Given the description of an element on the screen output the (x, y) to click on. 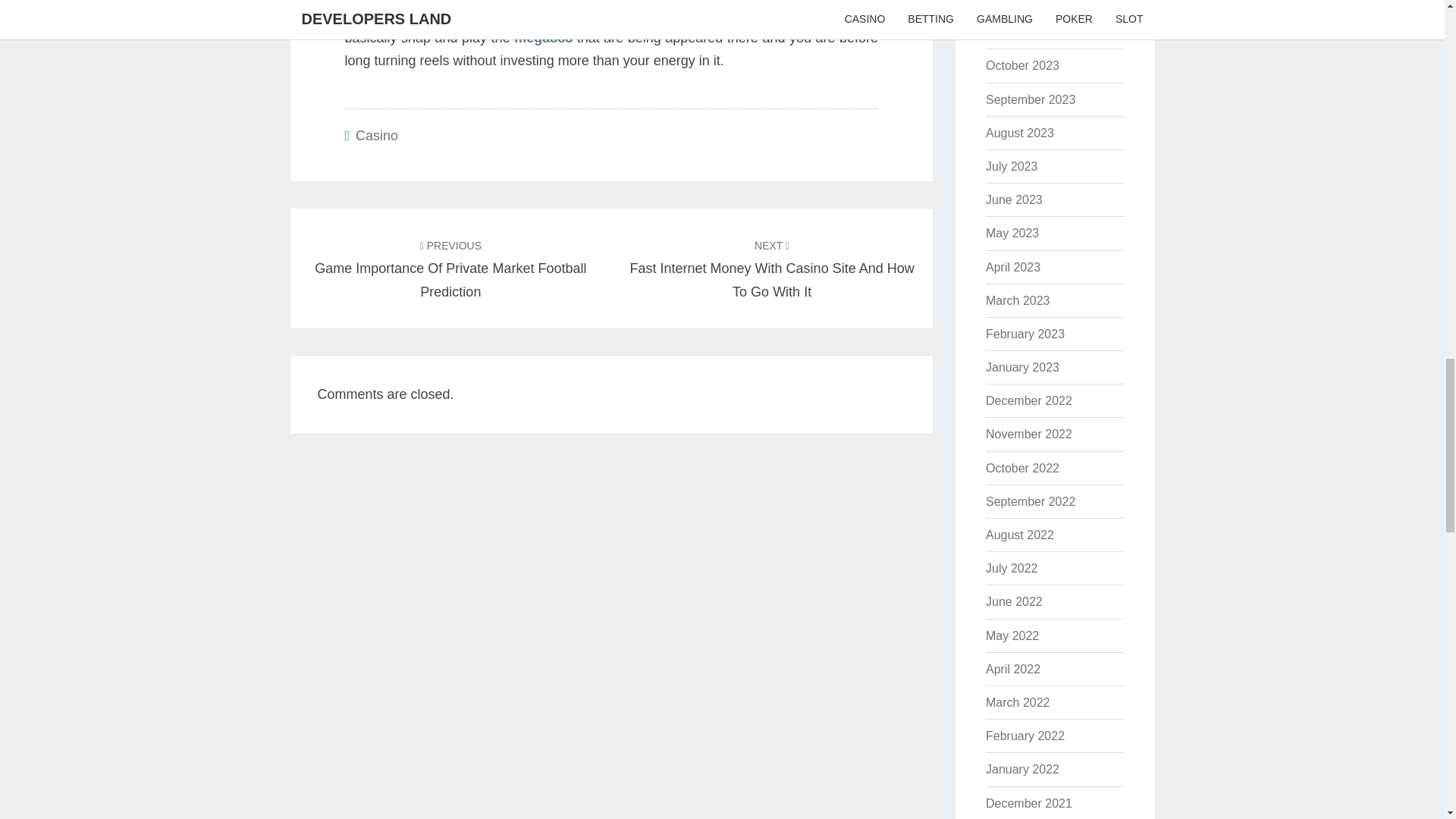
June 2023 (1013, 199)
Casino (376, 135)
February 2023 (1024, 333)
December 2023 (1028, 2)
July 2023 (1011, 165)
March 2023 (1017, 300)
April 2023 (1013, 267)
mega888 (542, 37)
November 2023 (1028, 31)
September 2023 (1030, 99)
January 2023 (1022, 367)
August 2023 (1019, 132)
October 2023 (1022, 65)
December 2022 (1028, 400)
